Given the description of an element on the screen output the (x, y) to click on. 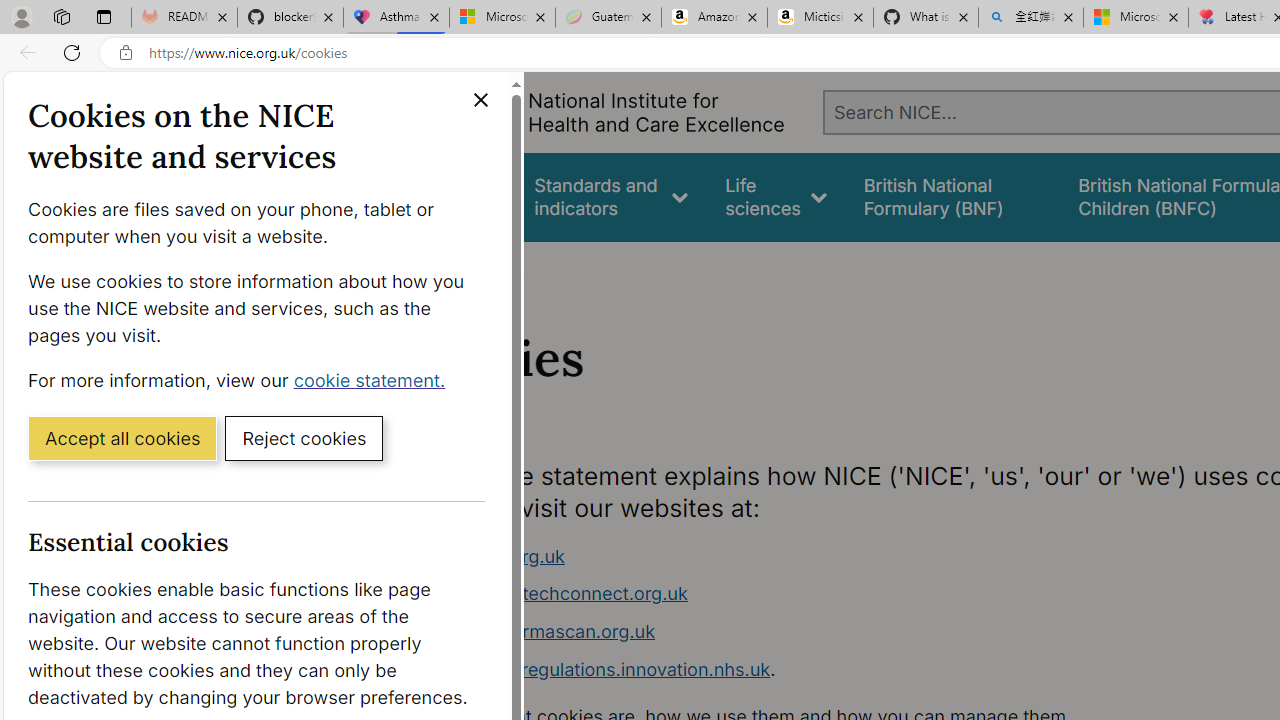
www.digitalregulations.innovation.nhs.uk (595, 668)
Close cookie banner (480, 99)
Home> (433, 268)
Accept all cookies (122, 437)
www.digitalregulations.innovation.nhs.uk. (796, 669)
Asthma Inhalers: Names and Types (396, 17)
Microsoft-Report a Concern to Bing (502, 17)
About (498, 268)
www.healthtechconnect.org.uk (554, 593)
